Given the description of an element on the screen output the (x, y) to click on. 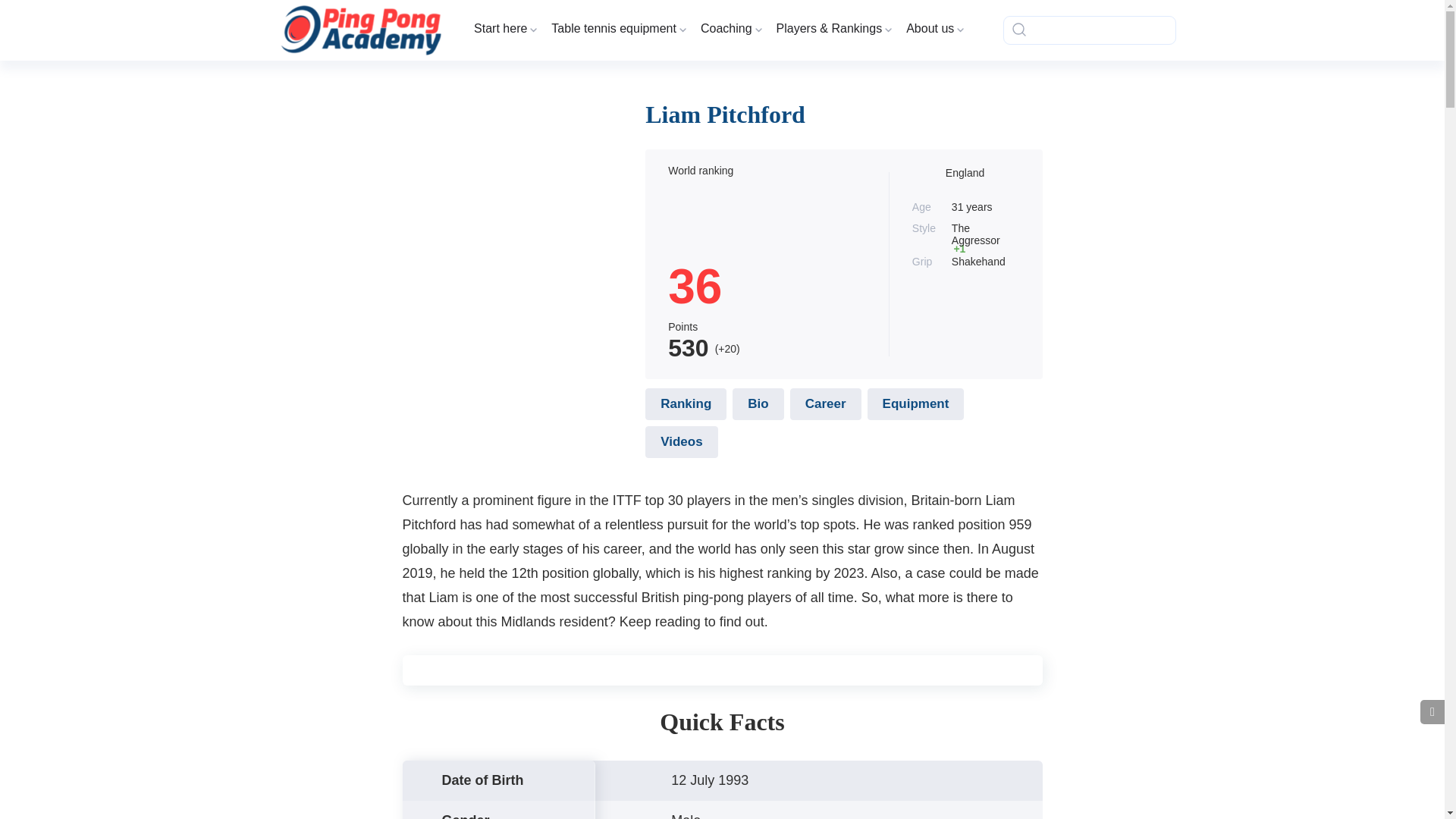
Table tennis equipment (618, 28)
Coaching (730, 28)
Start here (504, 28)
About us (933, 28)
